Given the description of an element on the screen output the (x, y) to click on. 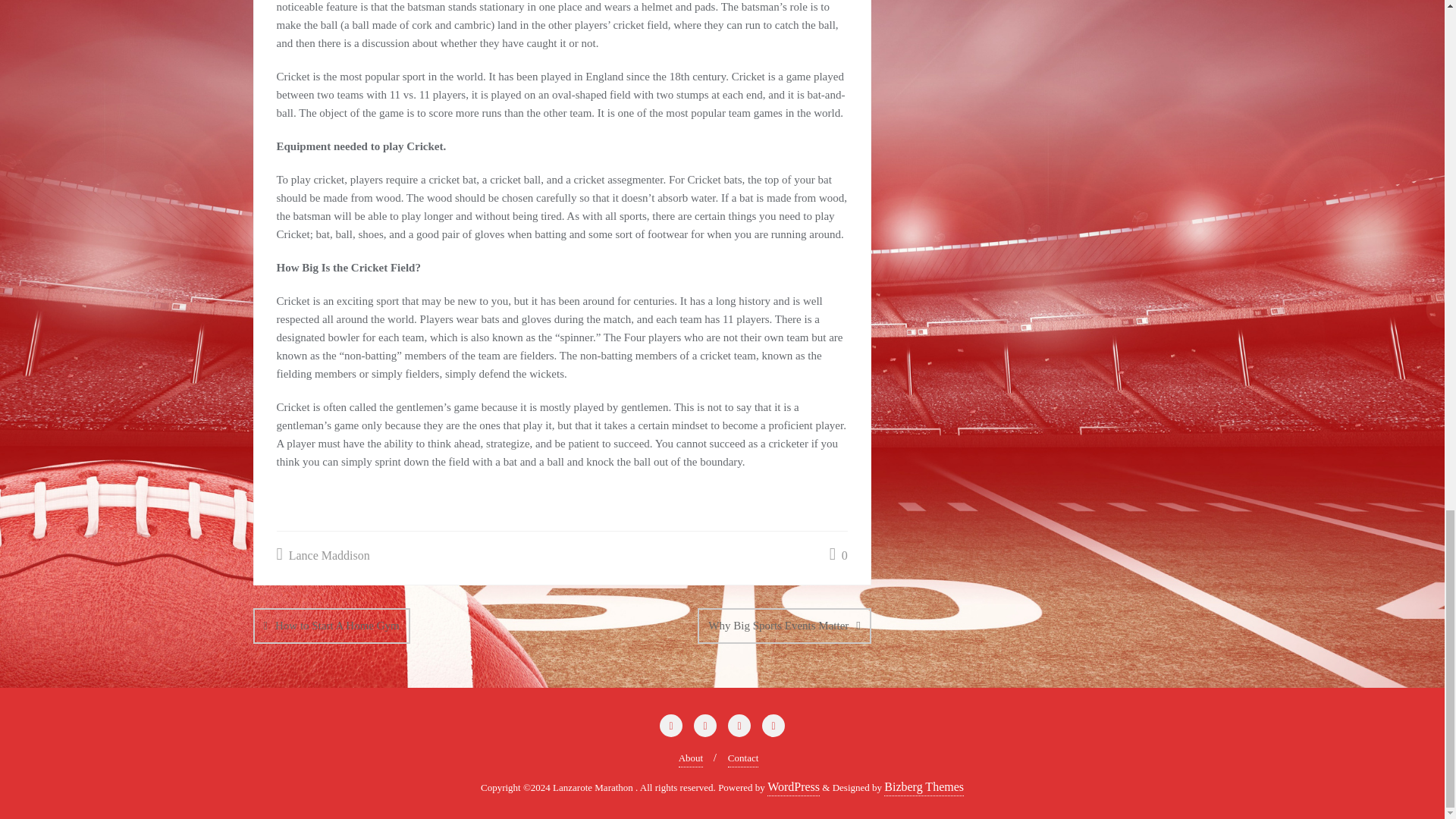
Why Big Sports Events Matter (783, 625)
Lance Maddison (322, 556)
How to Start A Home Gym (331, 625)
